Given the description of an element on the screen output the (x, y) to click on. 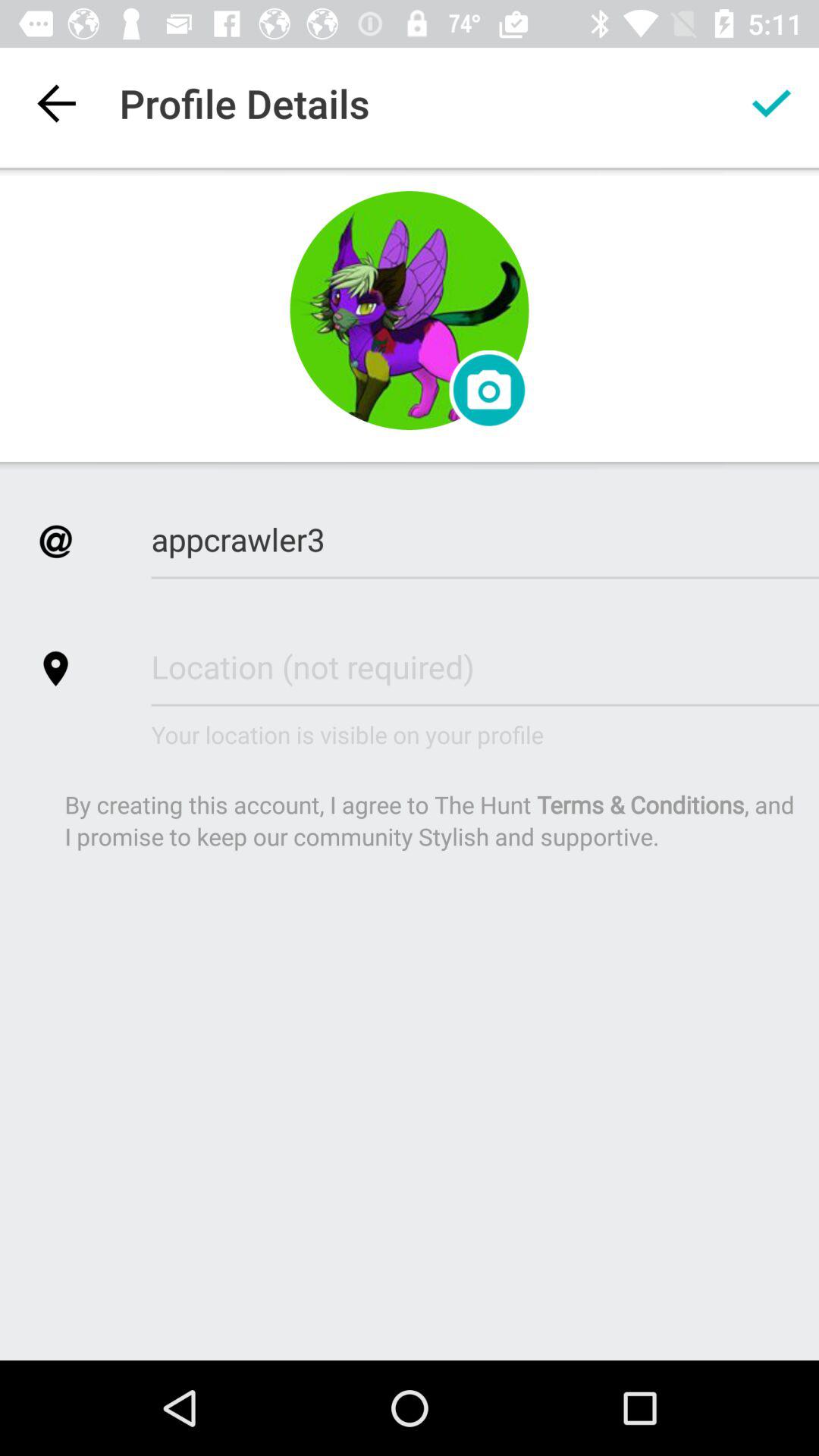
insert location (485, 666)
